Given the description of an element on the screen output the (x, y) to click on. 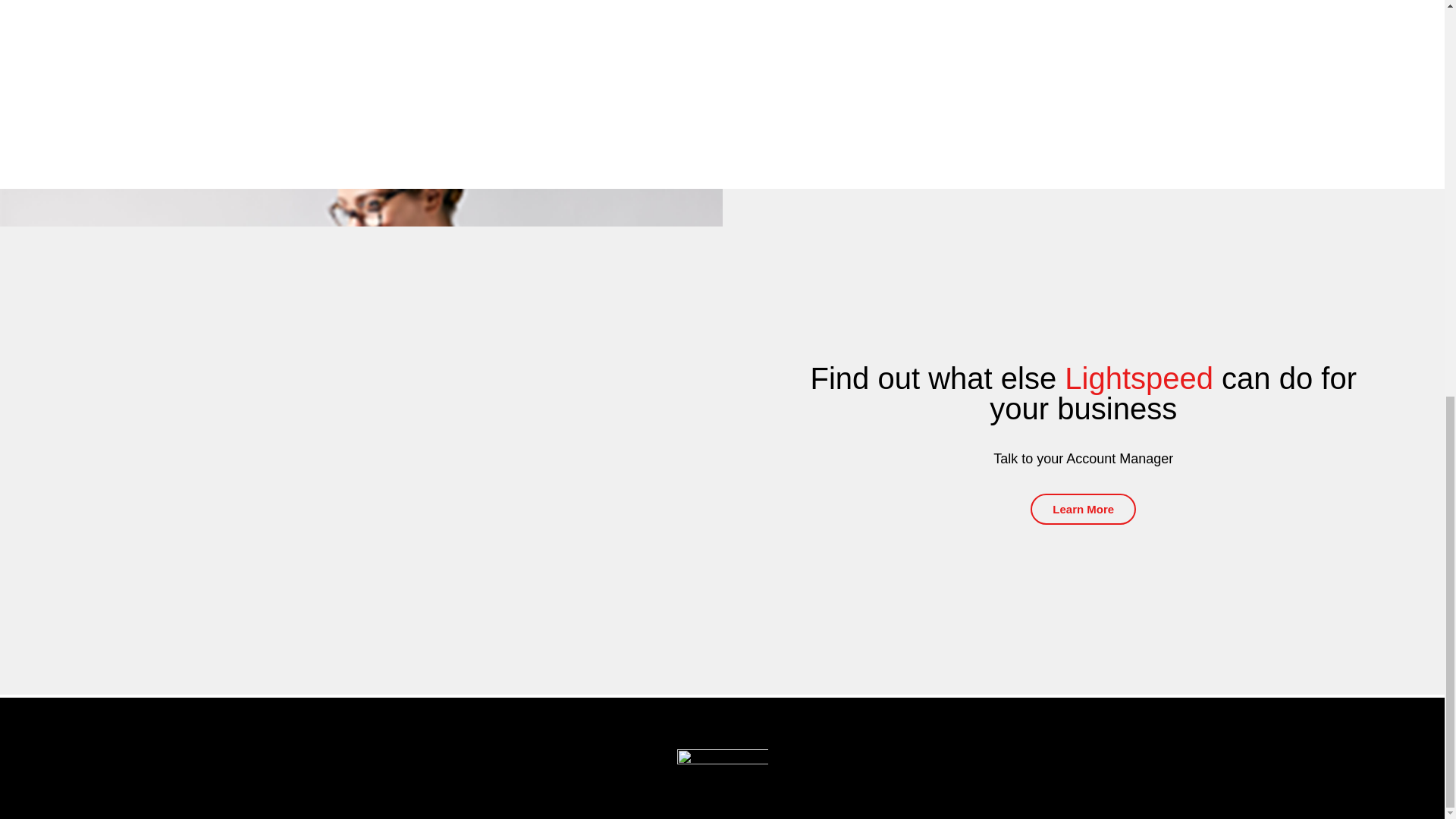
Learn More (1082, 509)
